Given the description of an element on the screen output the (x, y) to click on. 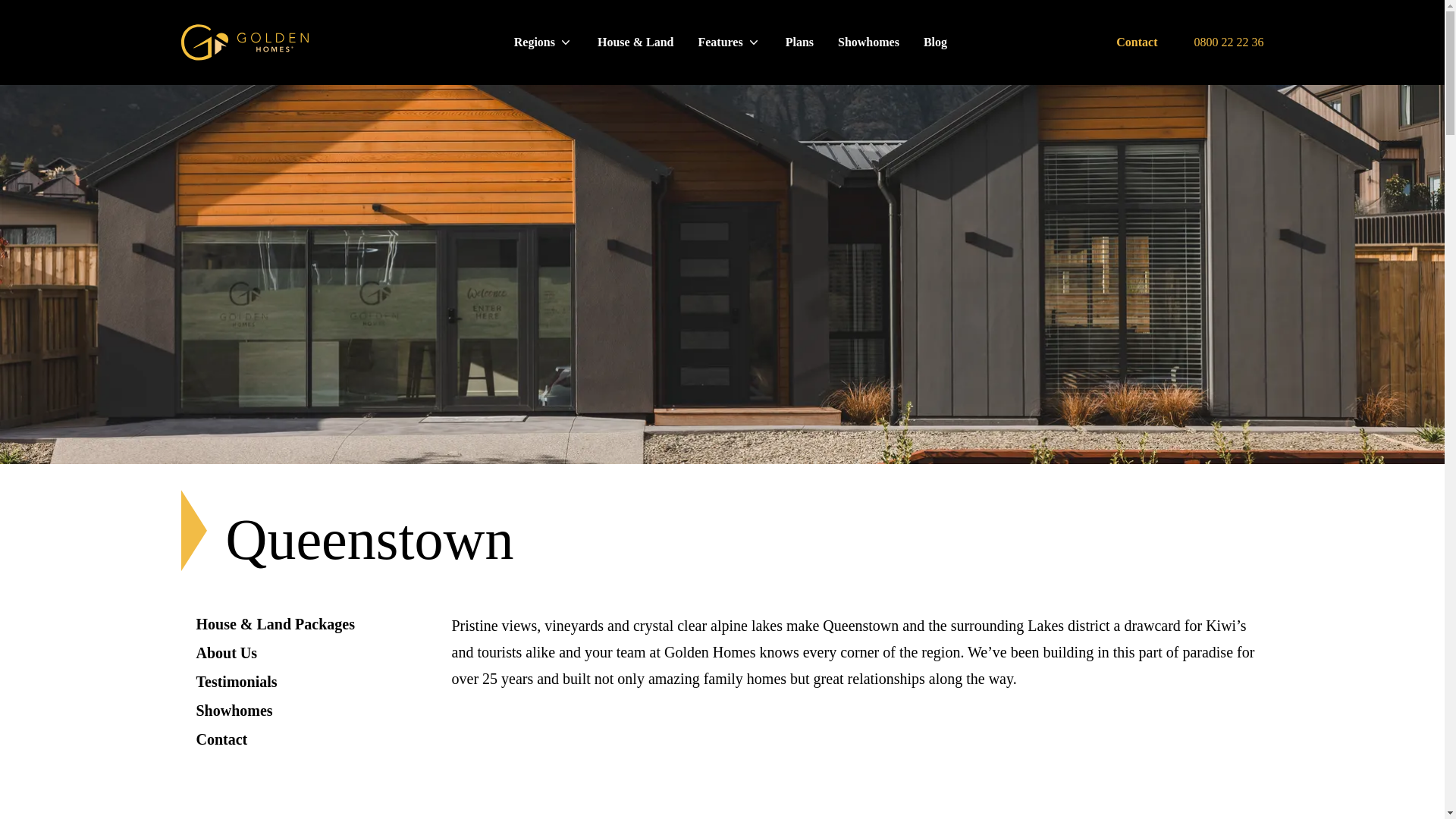
Contact (1136, 42)
Plans (798, 42)
Golden Homes (244, 42)
0800 22 22 36 (1228, 42)
Showhomes (868, 42)
Features (729, 42)
Blog (935, 42)
Regions (543, 42)
